Given the description of an element on the screen output the (x, y) to click on. 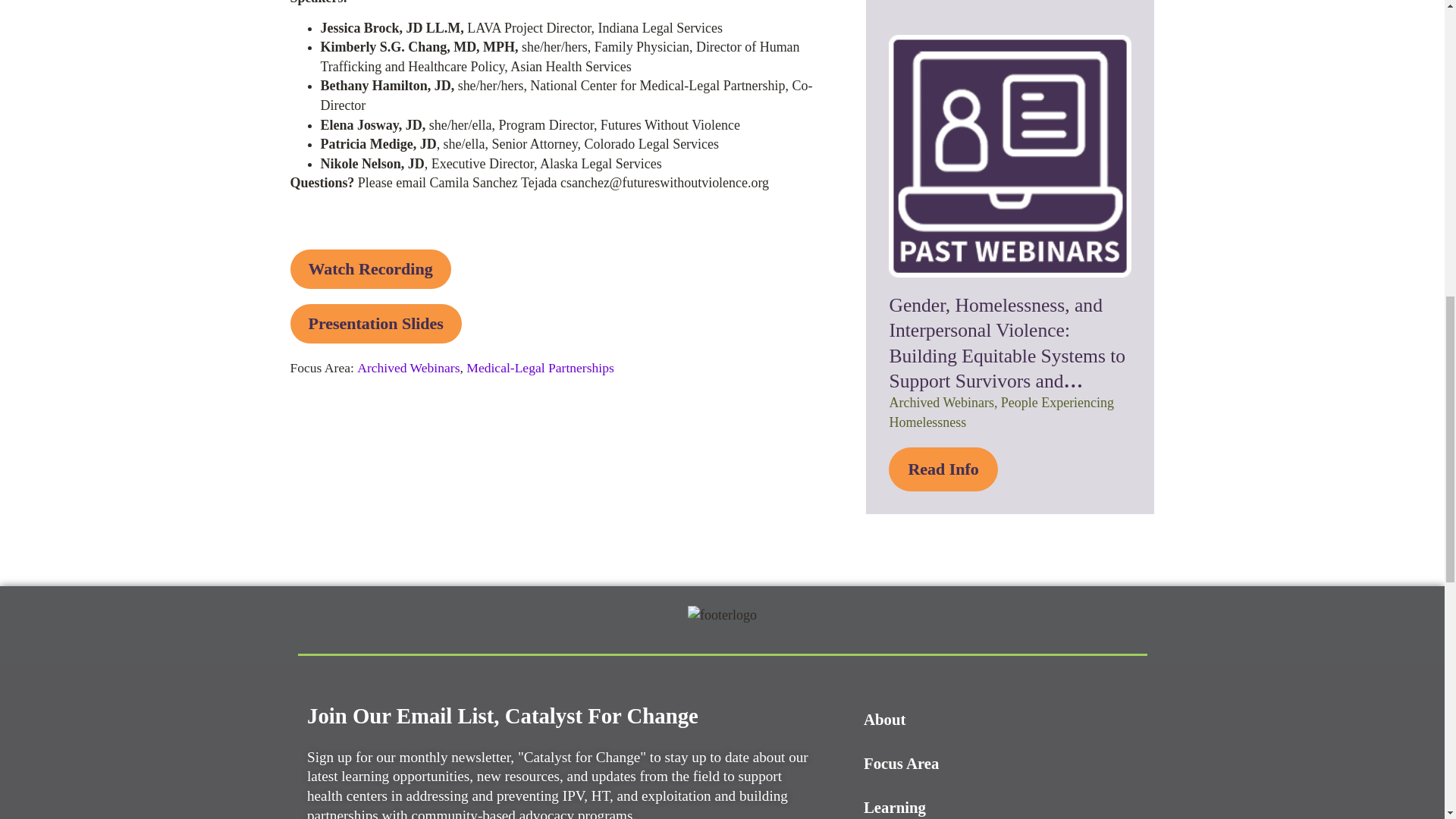
footerlogo (722, 615)
